Given the description of an element on the screen output the (x, y) to click on. 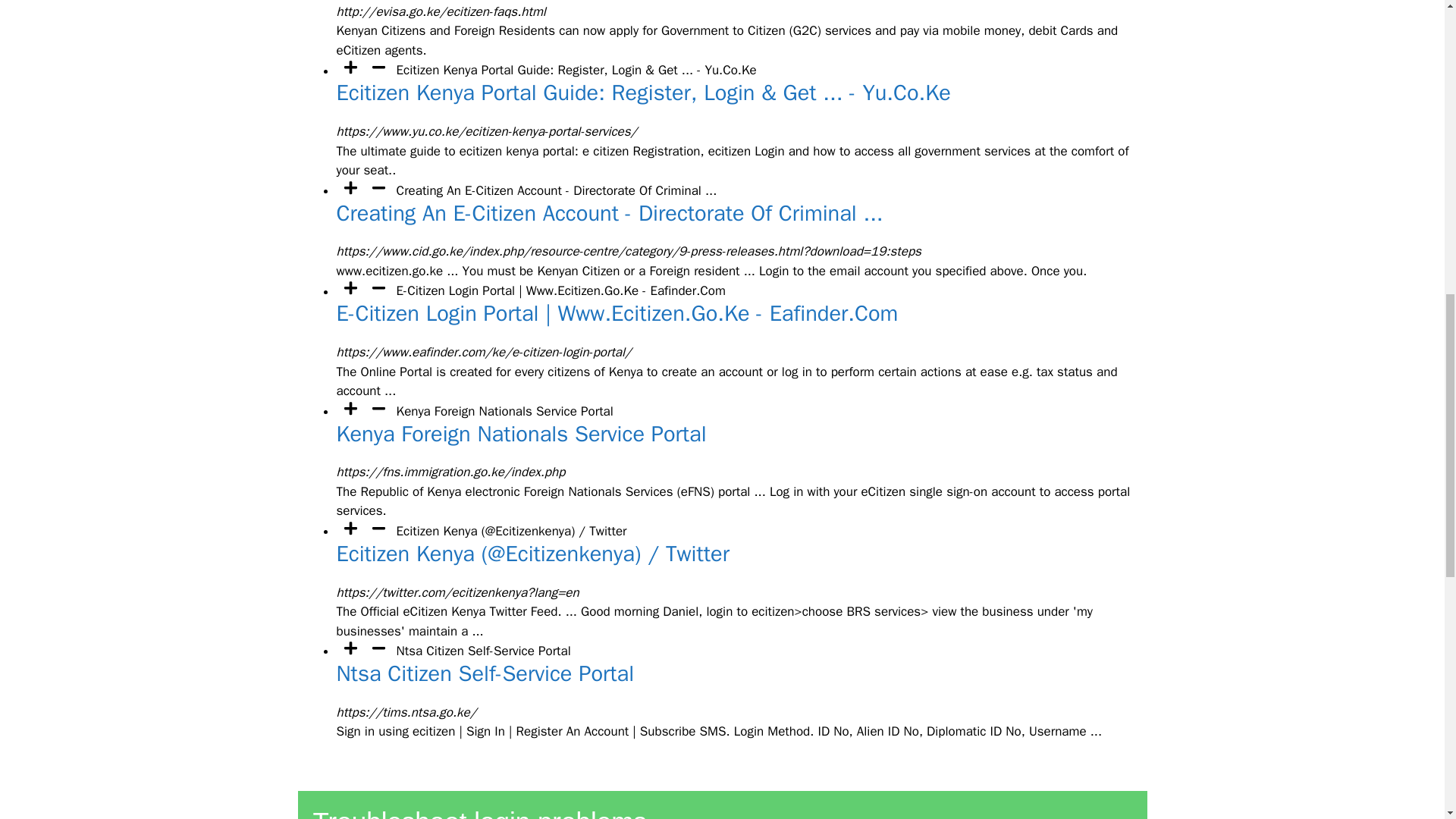
Kenya Foreign Nationals Service Portal (521, 433)
Ntsa Citizen Self-Service Portal (485, 673)
Creating An E-Citizen Account - Directorate Of Criminal ... (609, 213)
